Given the description of an element on the screen output the (x, y) to click on. 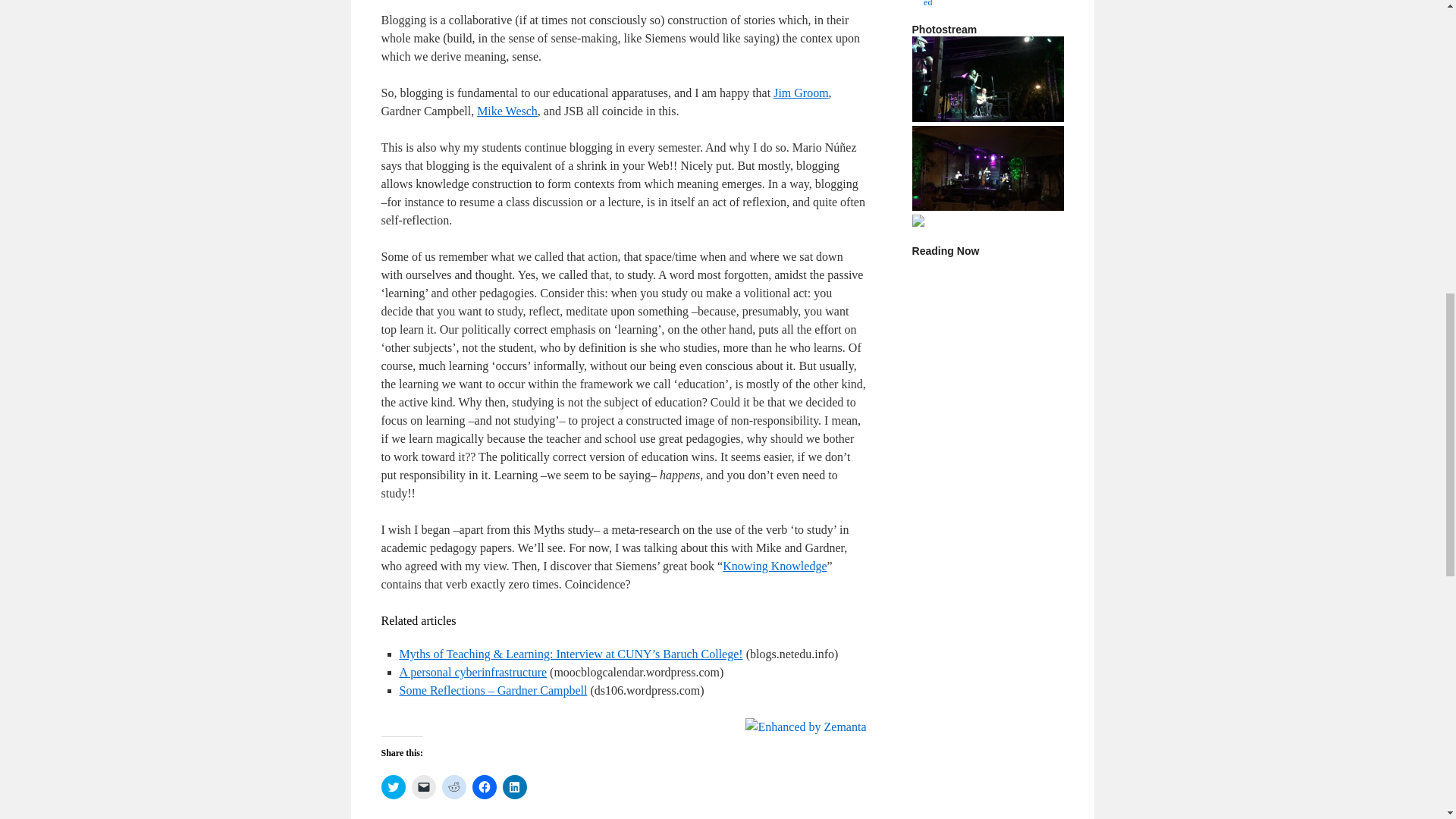
Jim Groom (800, 92)
Knowing Knowledge (774, 565)
Mike Wesch (507, 110)
Jim Groom (800, 92)
Michael Wesch (507, 110)
A personal cyberinfrastructure (472, 671)
